Given the description of an element on the screen output the (x, y) to click on. 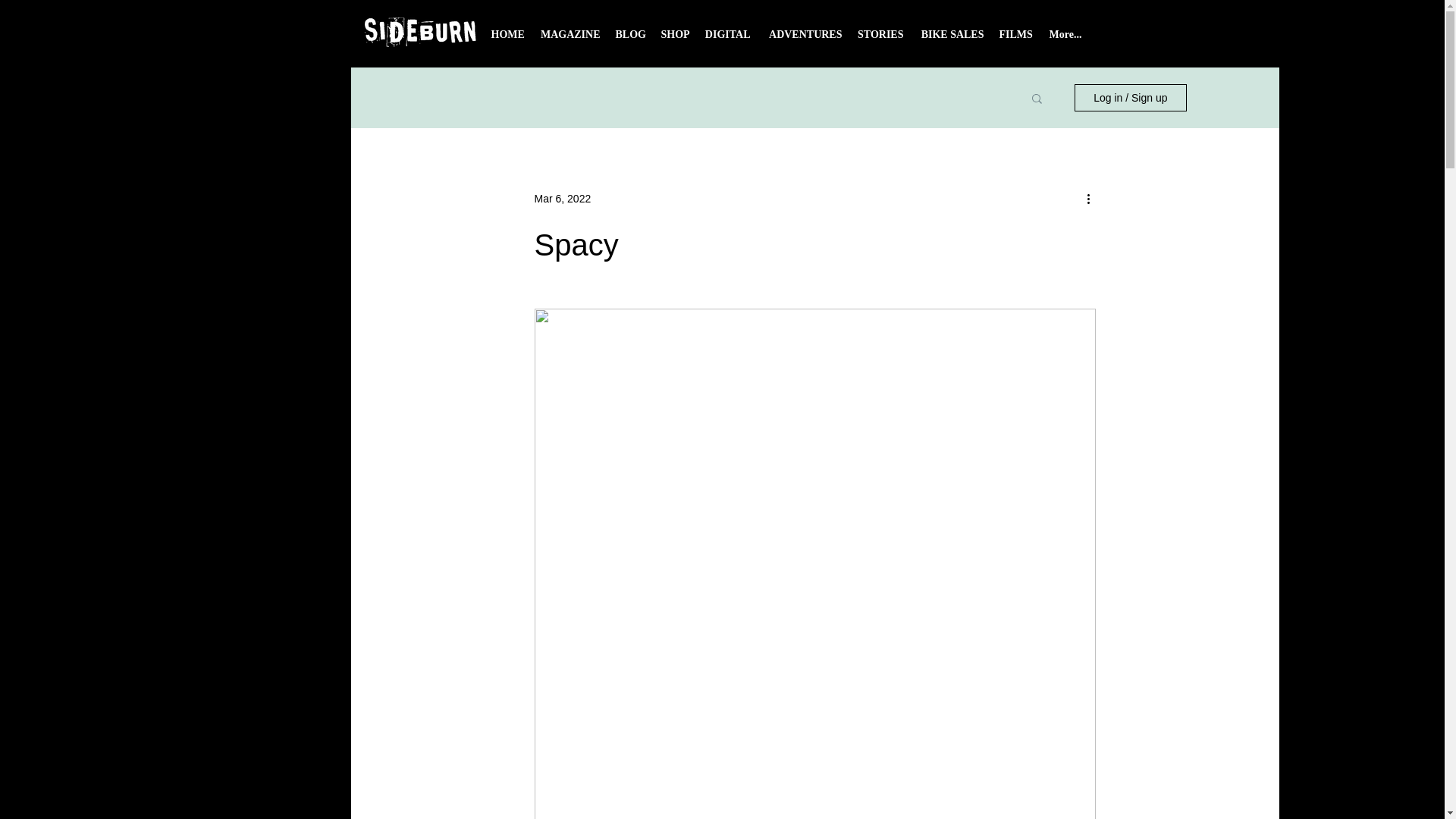
Mar 6, 2022 (562, 198)
DIGITAL (727, 39)
ADVENTURES (804, 39)
BLOG (630, 39)
STORIES (879, 39)
BIKE SALES (951, 39)
HOME (507, 39)
FILMS (1016, 39)
